Given the description of an element on the screen output the (x, y) to click on. 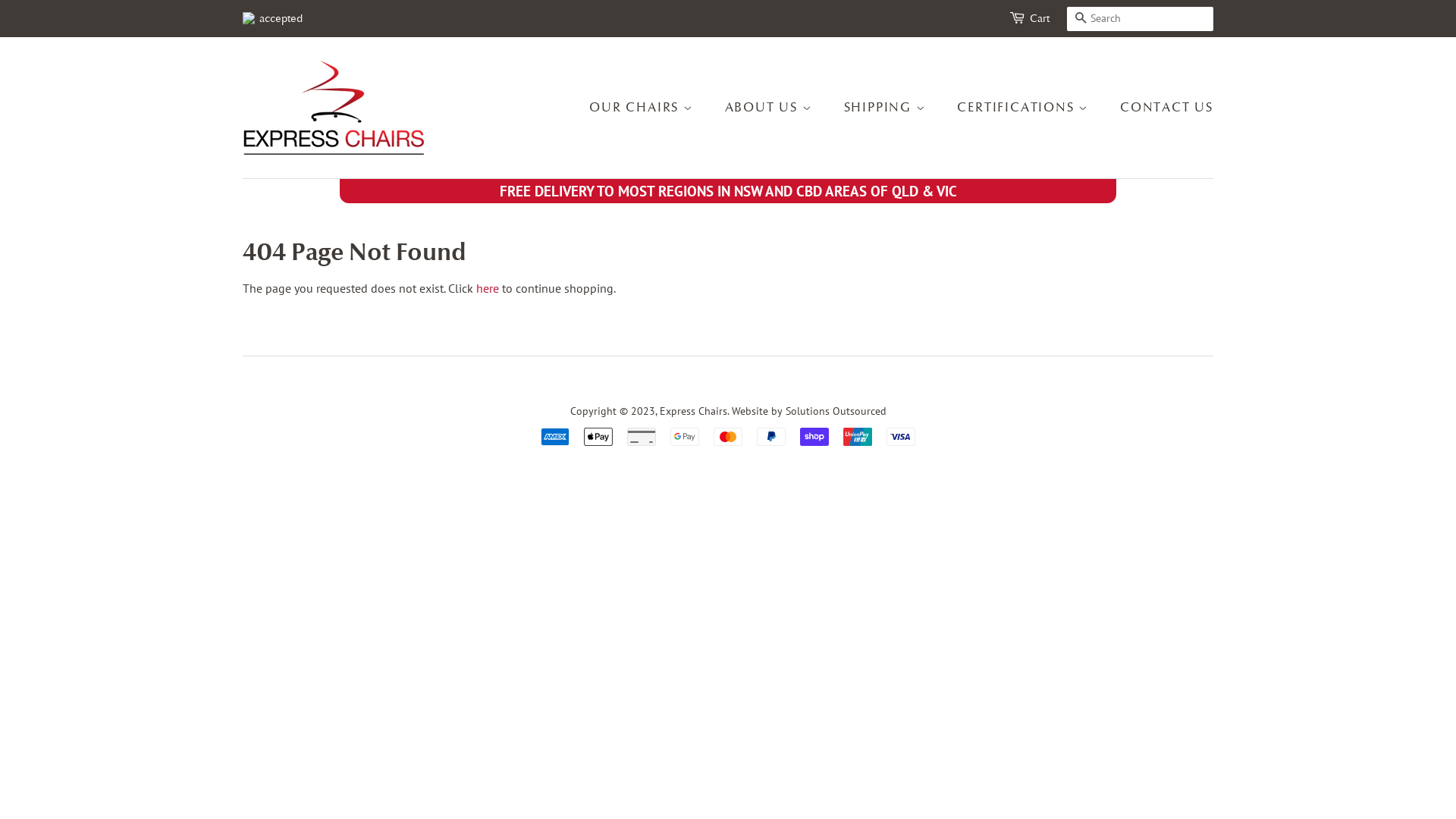
here Element type: text (487, 287)
ABOUT US Element type: text (770, 107)
SHIPPING Element type: text (886, 107)
Solutions Outsourced Element type: text (835, 410)
OUR CHAIRS Element type: text (649, 107)
SEARCH Element type: text (1081, 18)
Cart Element type: text (1039, 18)
CERTIFICATIONS Element type: text (1024, 107)
Express Chairs Element type: text (693, 410)
CONTACT US Element type: text (1160, 107)
